Given the description of an element on the screen output the (x, y) to click on. 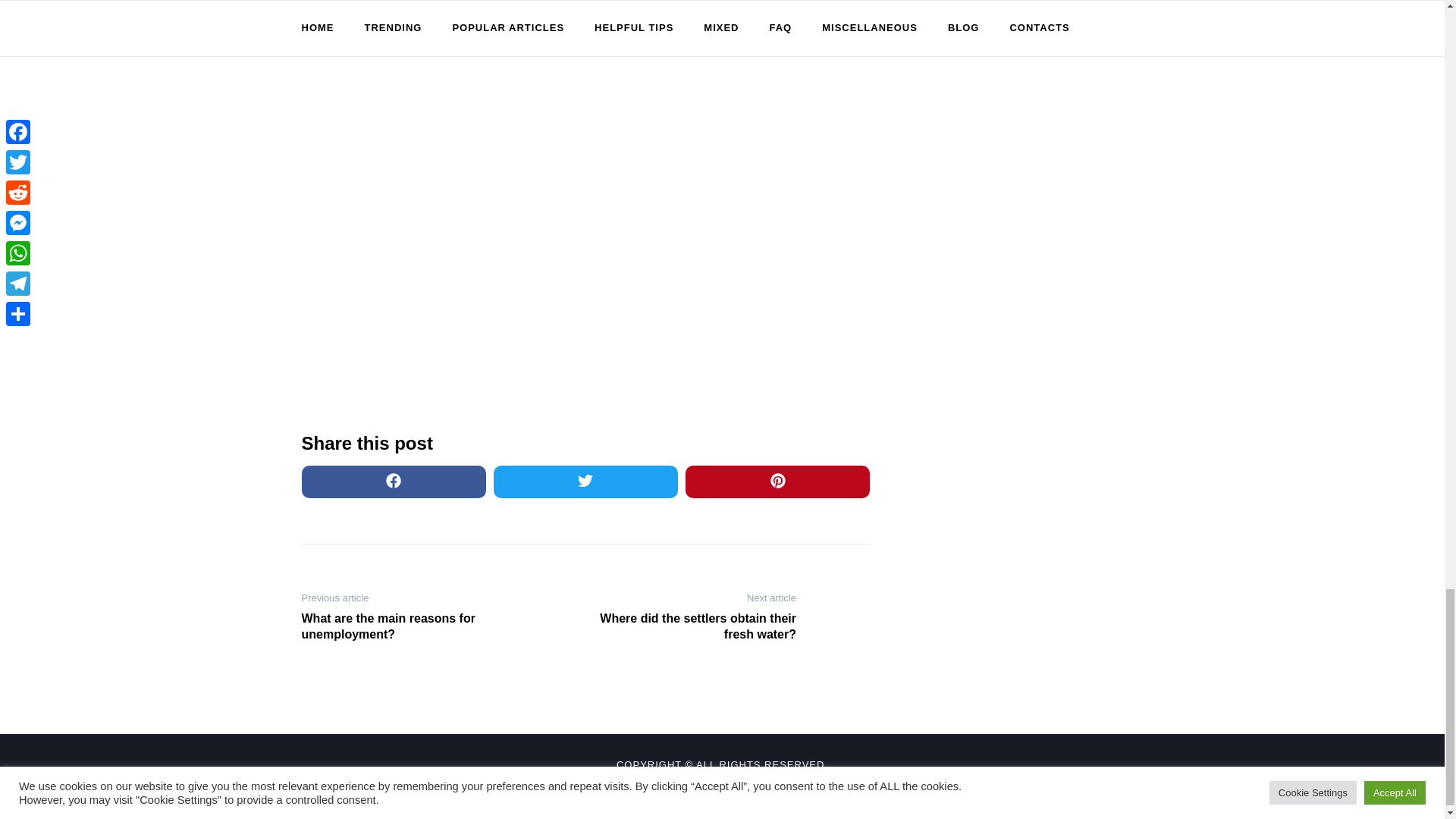
What are the main reasons for unemployment? (400, 626)
Where did the settlers obtain their fresh water? (696, 626)
